Given the description of an element on the screen output the (x, y) to click on. 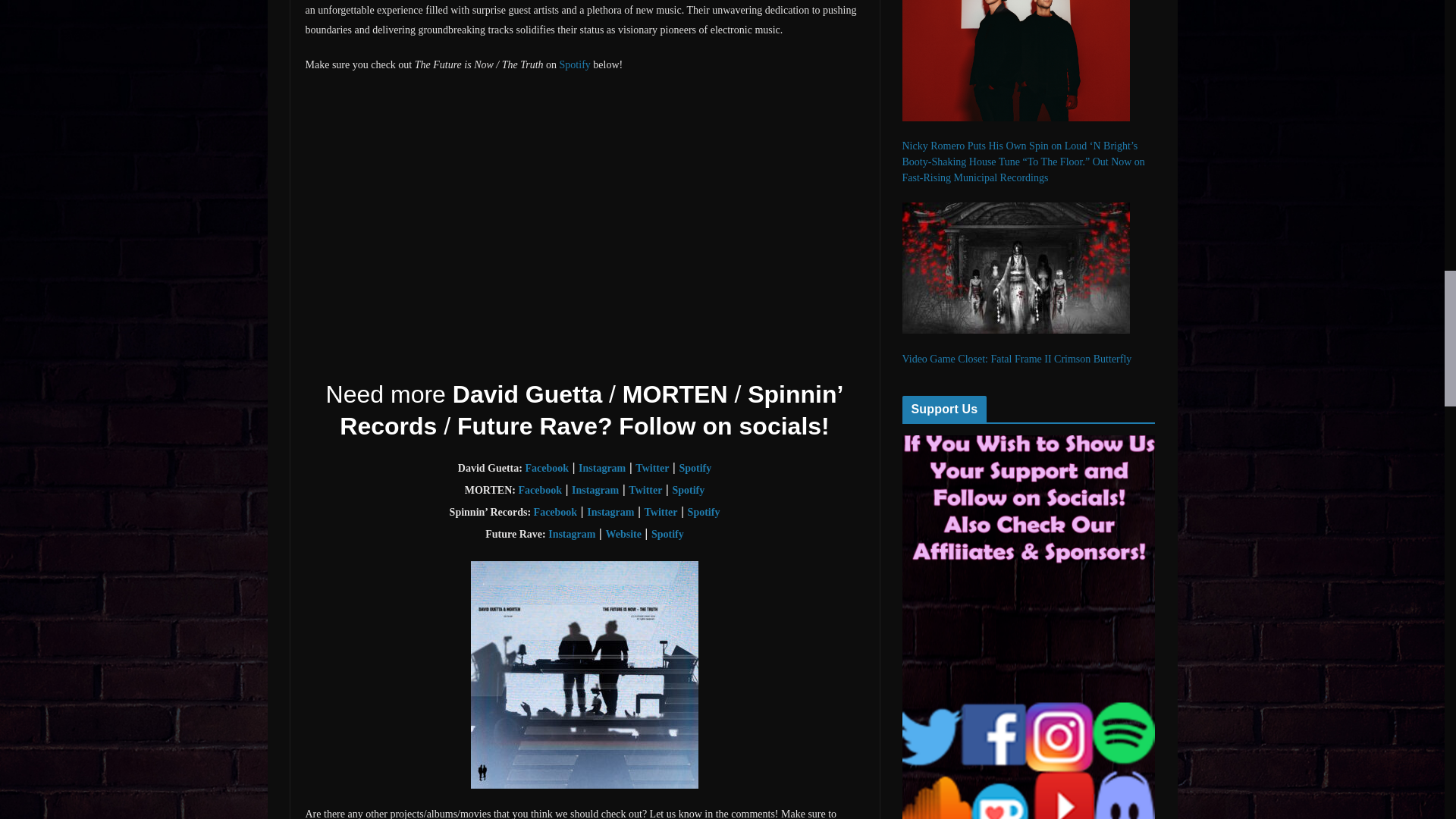
Spotify (703, 511)
Spotify (687, 490)
Spotify (694, 468)
Facebook (556, 511)
Facebook (540, 490)
Twitter (660, 511)
Facebook (546, 468)
Facebook (540, 490)
Twitter (645, 490)
Spotify (575, 64)
Instagram (602, 468)
Instagram (602, 468)
Facebook (546, 468)
Website (622, 533)
Instagram (609, 511)
